Given the description of an element on the screen output the (x, y) to click on. 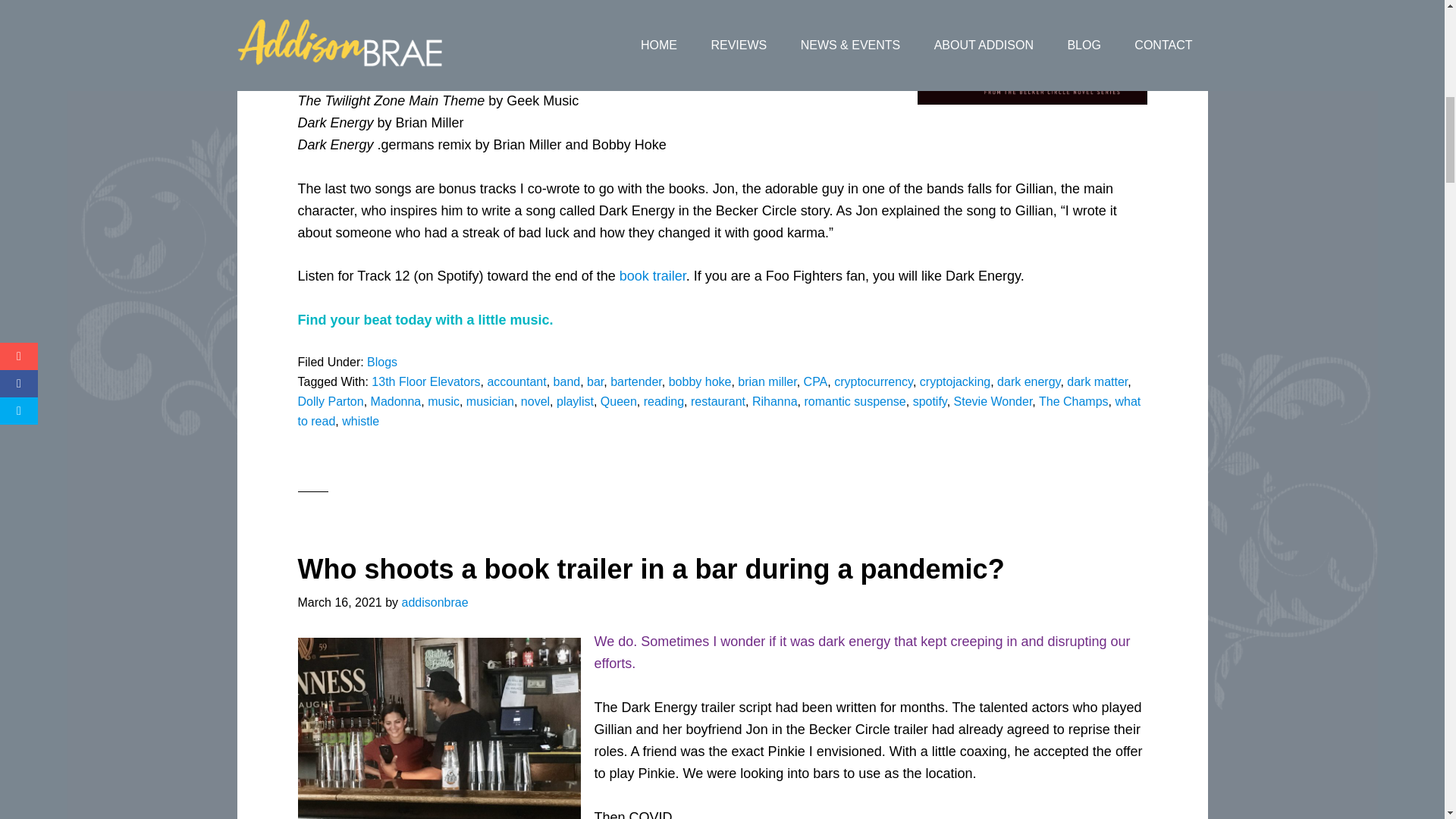
dark energy (1028, 381)
novel (535, 400)
musician (489, 400)
Rihanna (774, 400)
dark matter (1096, 381)
romantic suspense (854, 400)
bartender (636, 381)
Blogs (381, 361)
CPA (815, 381)
Queen (618, 400)
